Given the description of an element on the screen output the (x, y) to click on. 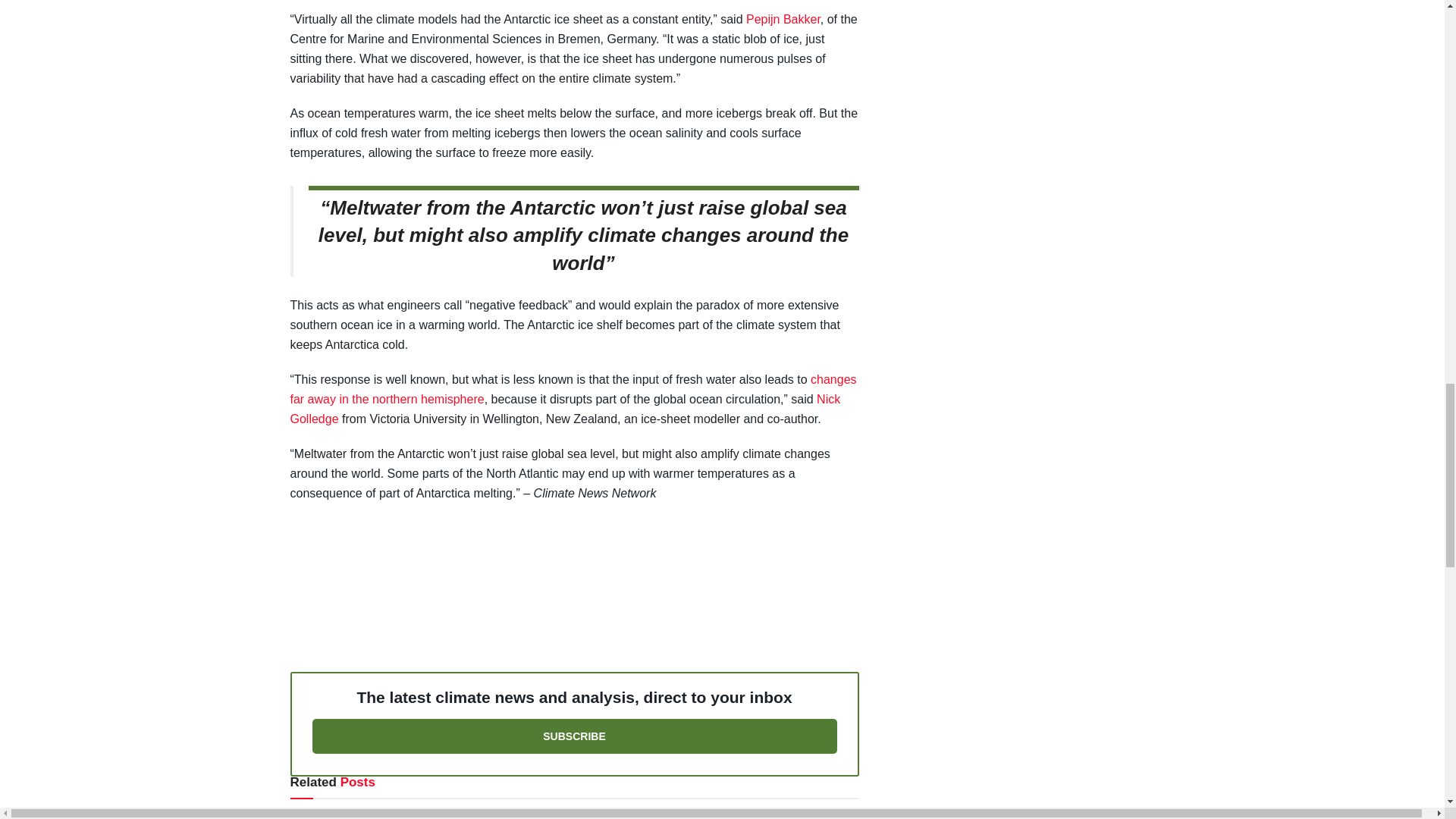
View Subscription Options (575, 736)
